Given the description of an element on the screen output the (x, y) to click on. 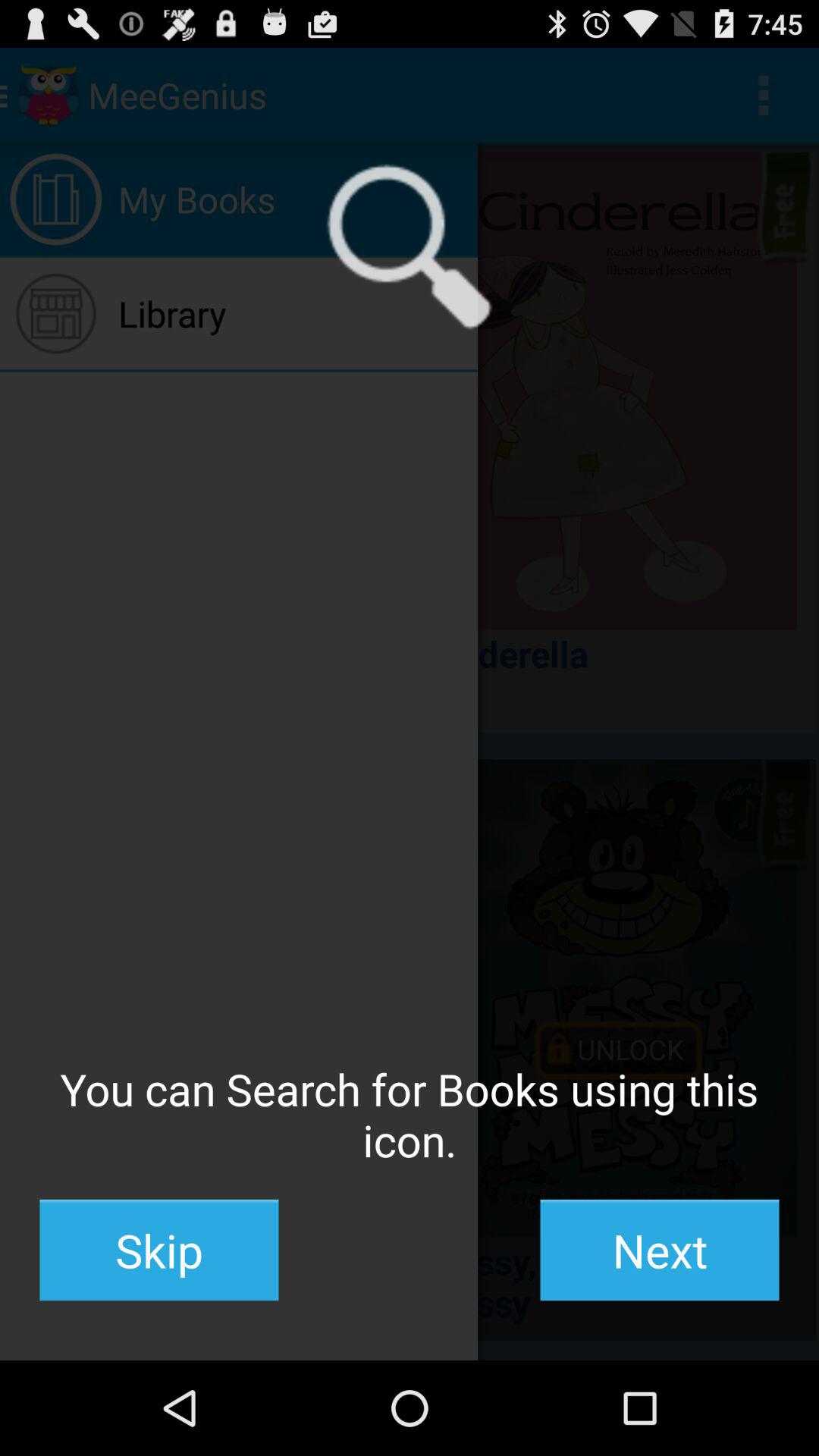
open icon at the bottom right corner (659, 1249)
